Given the description of an element on the screen output the (x, y) to click on. 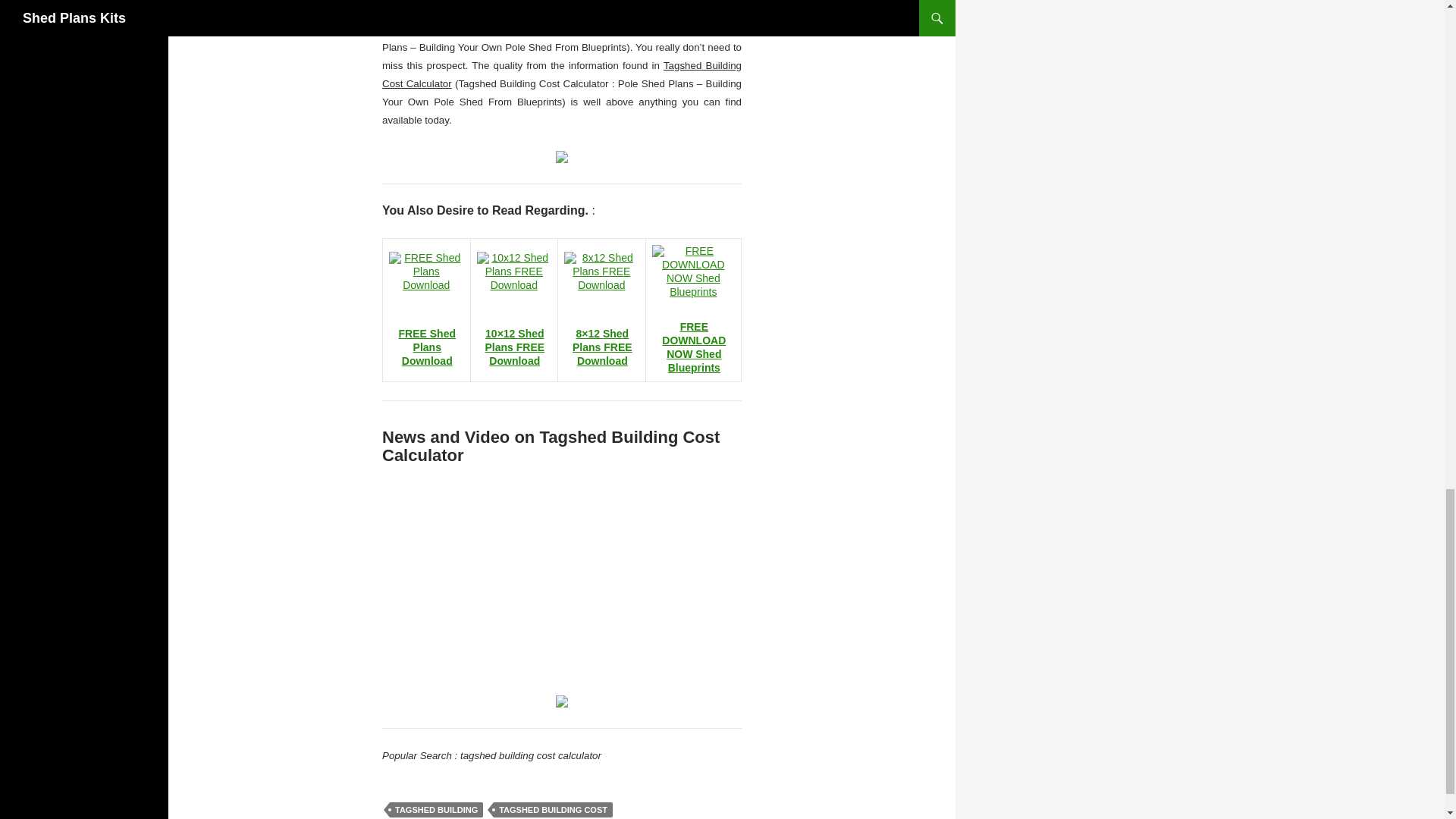
FREE DOWNLOAD NOW Shed Blueprints (693, 347)
FREE Shed Plans Download (426, 346)
tagshed building cost calculator (561, 155)
TAGSHED BUILDING COST (552, 809)
TAGSHED BUILDING (436, 809)
tagshed building cost calculator (561, 699)
